Given the description of an element on the screen output the (x, y) to click on. 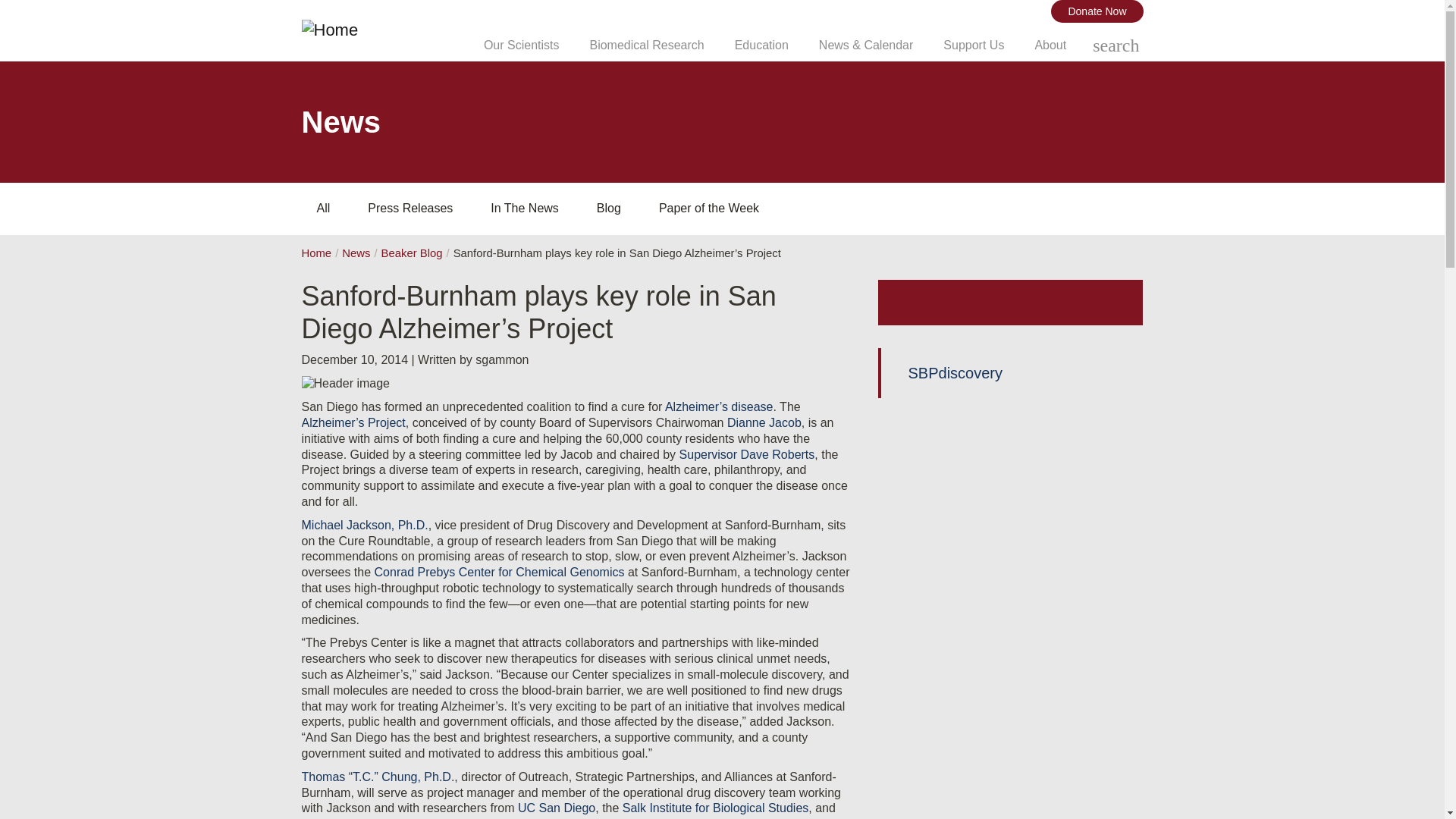
Header image (345, 383)
About (1049, 45)
Education (762, 45)
Biomedical Research (646, 45)
Our Scientists (521, 45)
search (1115, 45)
Home (384, 30)
Donate Now (1096, 11)
Support Us (973, 45)
